Given the description of an element on the screen output the (x, y) to click on. 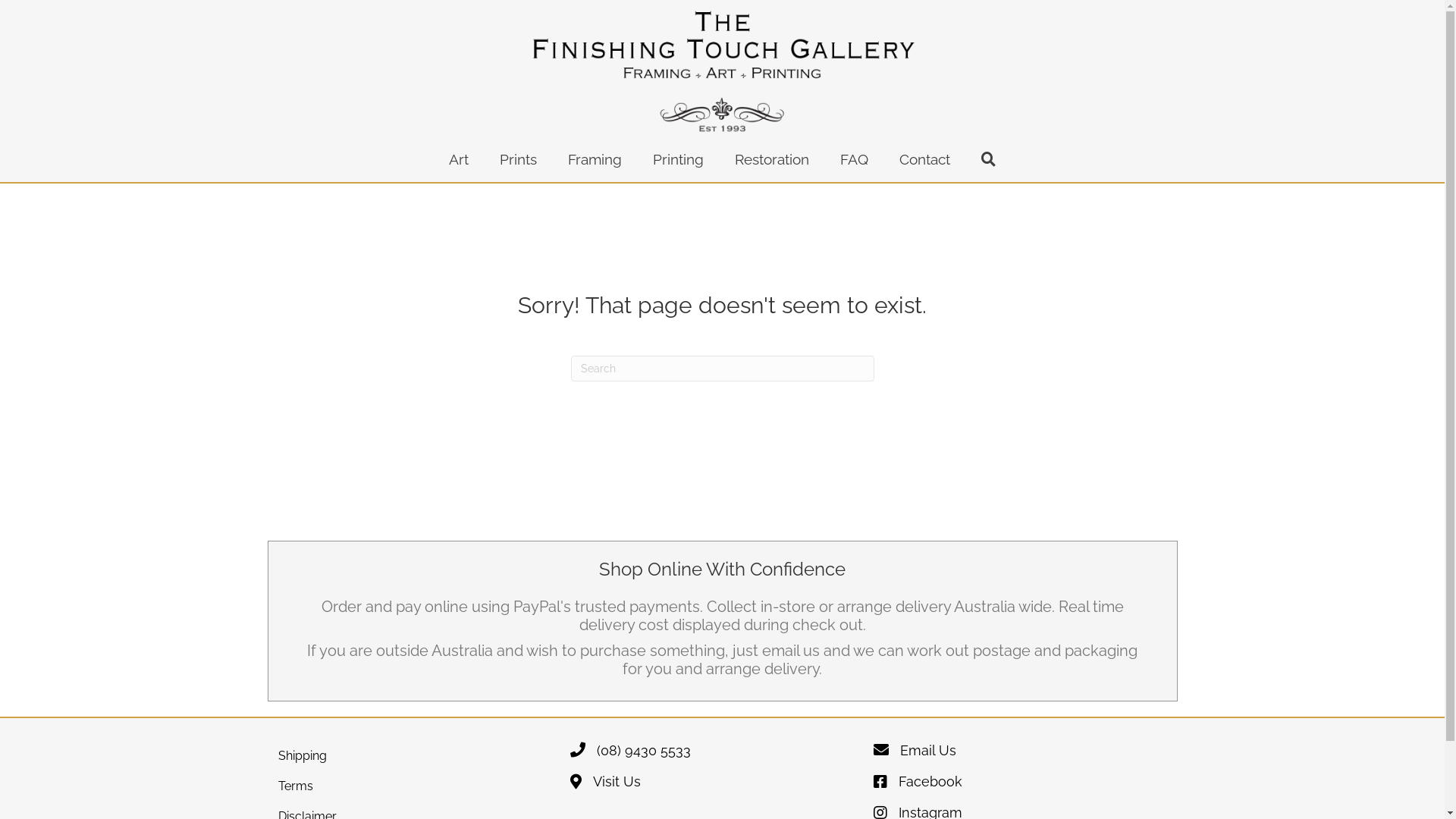
Shipping Element type: text (418, 755)
Type and press Enter to search. Element type: hover (721, 368)
Framing Element type: text (594, 158)
Email Us Element type: text (914, 754)
Search Element type: hover (988, 159)
The Finishing Touch Gallery Element type: hover (722, 71)
Visit Us Element type: text (605, 785)
Prints Element type: text (518, 158)
FAQ Element type: text (854, 158)
Art Element type: text (458, 158)
Printing Element type: text (677, 158)
Contact Element type: text (924, 158)
(08) 9430 5533 Element type: text (630, 754)
Terms Element type: text (418, 785)
Restoration Element type: text (771, 158)
Facebook Element type: text (917, 785)
